Given the description of an element on the screen output the (x, y) to click on. 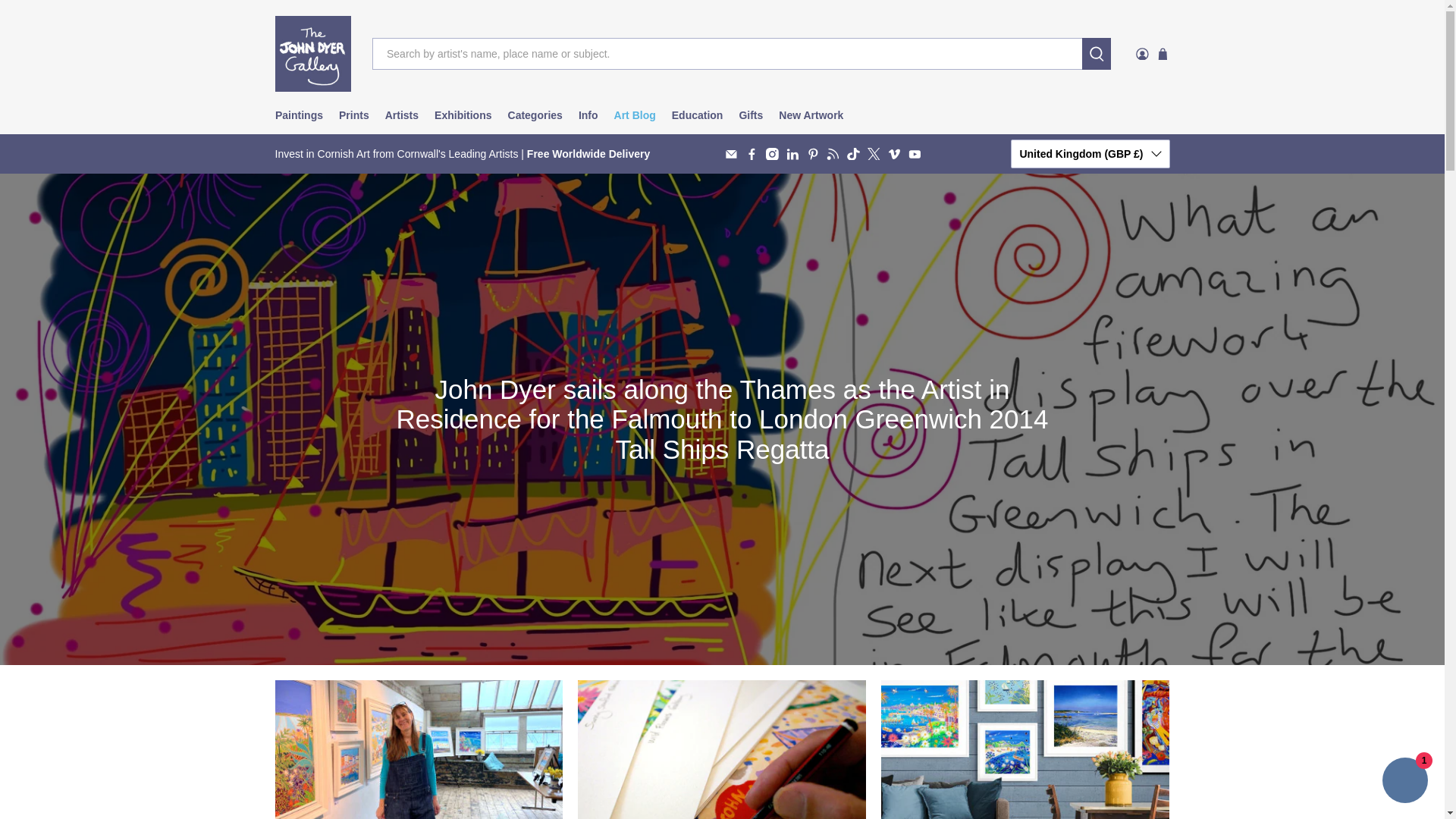
Categories (534, 115)
John Dyer Gallery (312, 53)
Email John Dyer Gallery (731, 154)
John Dyer Gallery on LinkedIn (792, 154)
John Dyer Gallery on TikTok (853, 154)
Paintings (298, 115)
Education (696, 115)
New Artwork (811, 115)
John Dyer Gallery on RSS (833, 154)
Artists (401, 115)
John Dyer Gallery on Instagram (771, 154)
John Dyer Gallery on YouTube (914, 154)
John Dyer Gallery on Vimeo (894, 154)
John Dyer Gallery on Pinterest (812, 154)
Prints (354, 115)
